Given the description of an element on the screen output the (x, y) to click on. 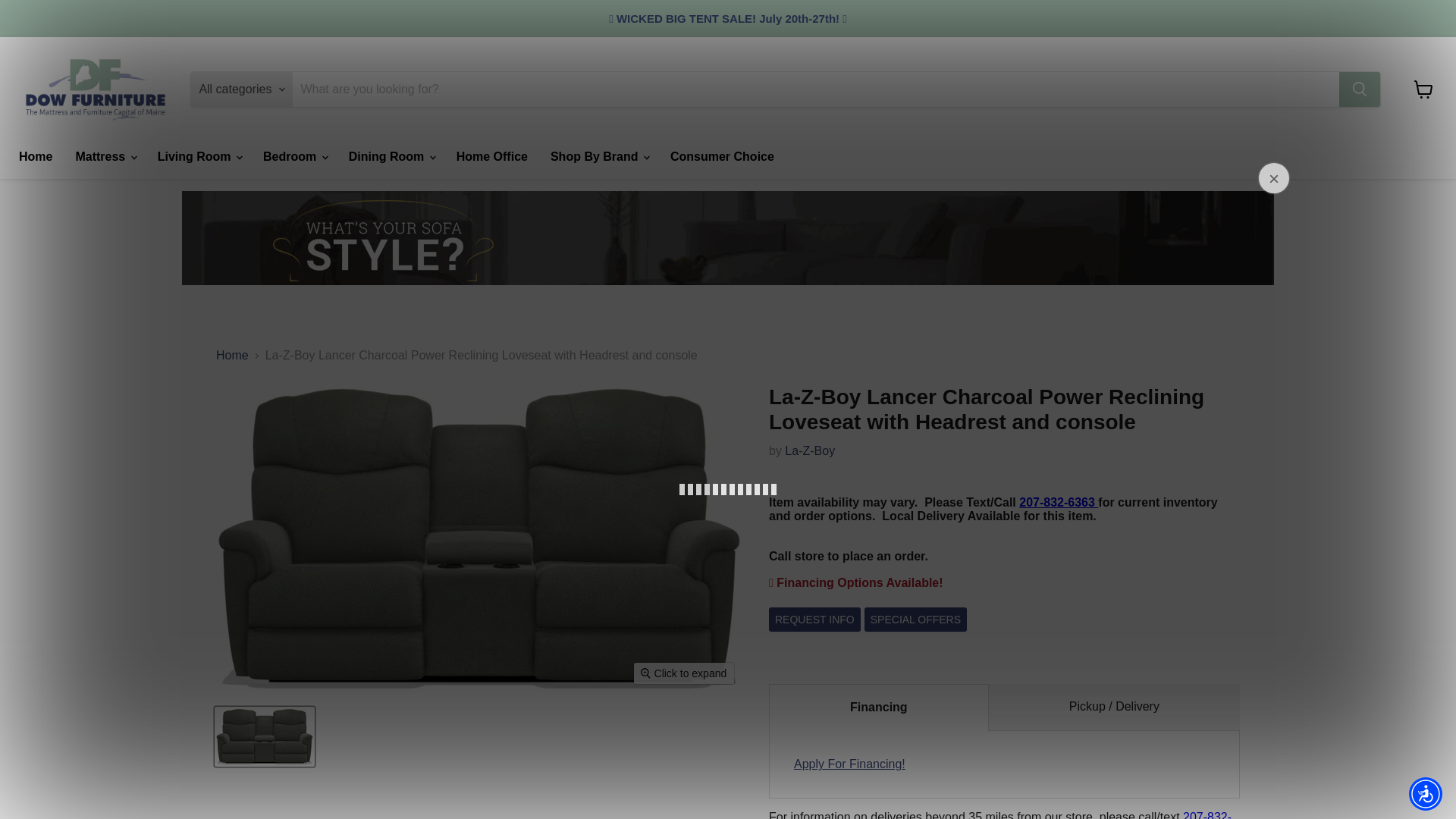
Financing (849, 763)
La-Z-Boy (809, 450)
Home (35, 156)
tel:207-832-6363 (1058, 502)
tel:207-832-6363 (999, 814)
View cart (1423, 89)
Accessibility Menu (1425, 793)
